Given the description of an element on the screen output the (x, y) to click on. 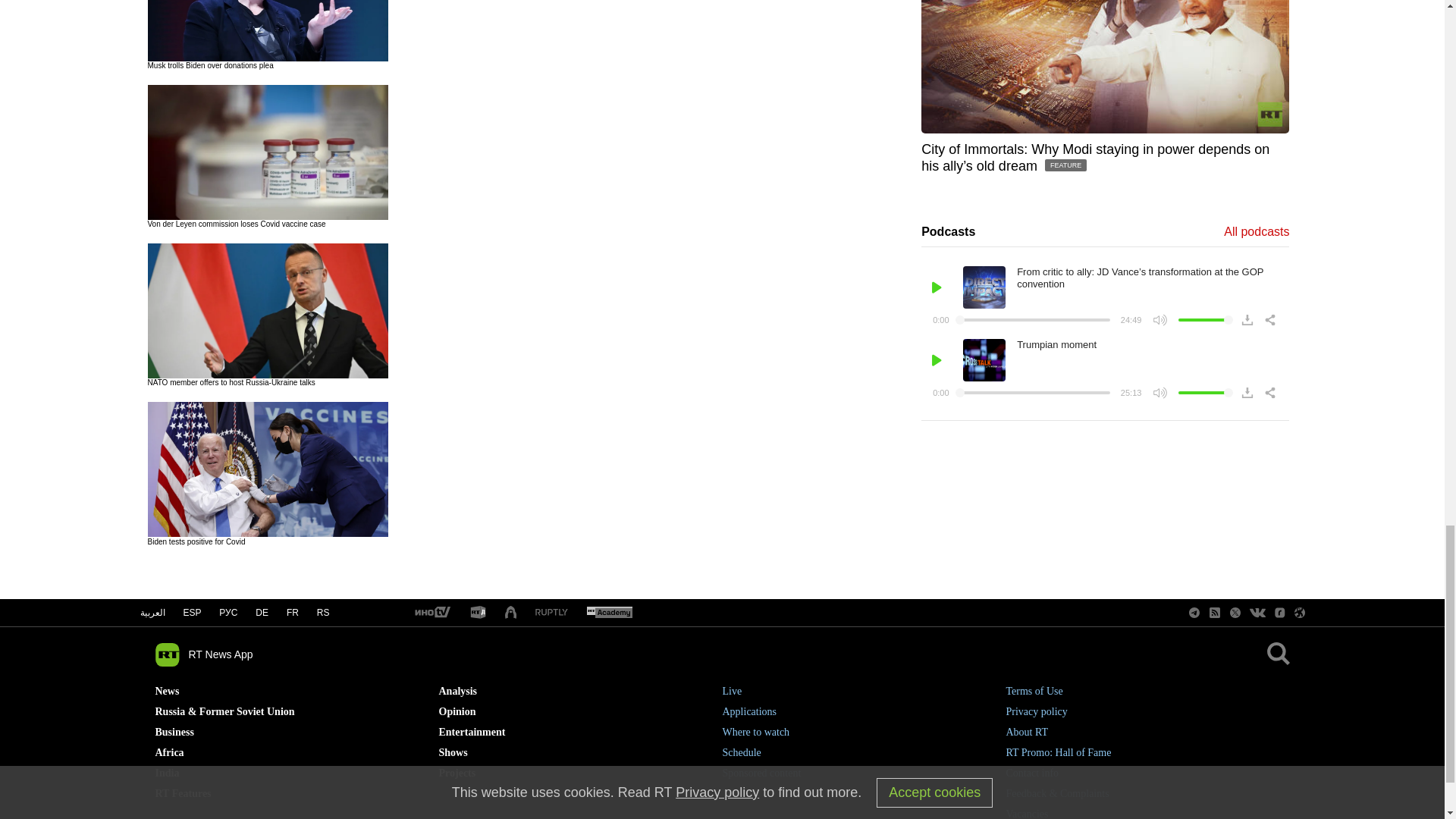
RT  (431, 612)
RT  (551, 613)
RT  (608, 612)
RT  (478, 612)
